Given the description of an element on the screen output the (x, y) to click on. 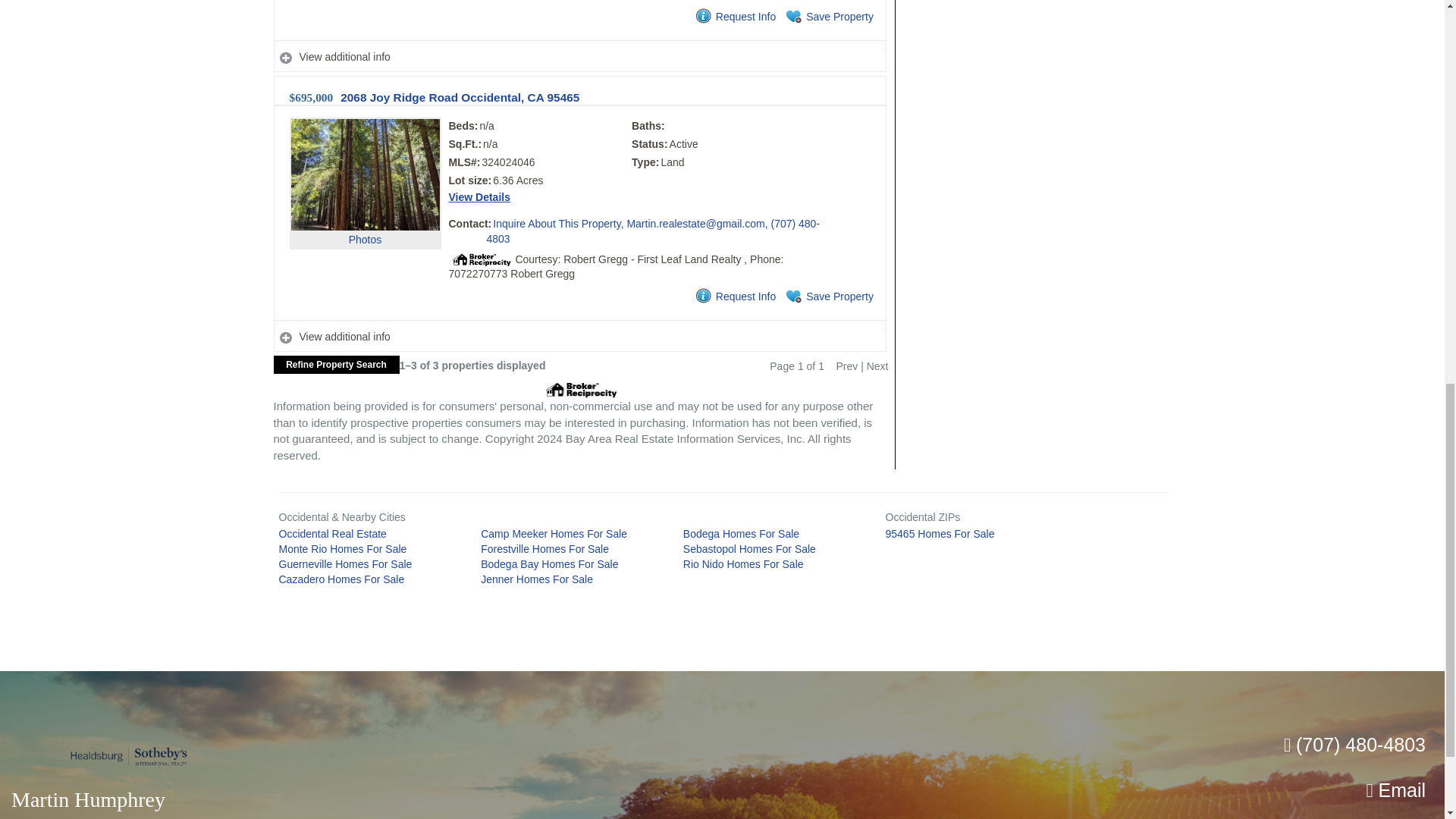
View Details (479, 196)
2068 Joy Ridge Road Occidental, CA 95465 (459, 97)
View property remarks and map (580, 57)
Request Info (734, 296)
View property remarks and map (580, 337)
Save Property (828, 17)
Request Info (734, 17)
Photos (365, 206)
